Given the description of an element on the screen output the (x, y) to click on. 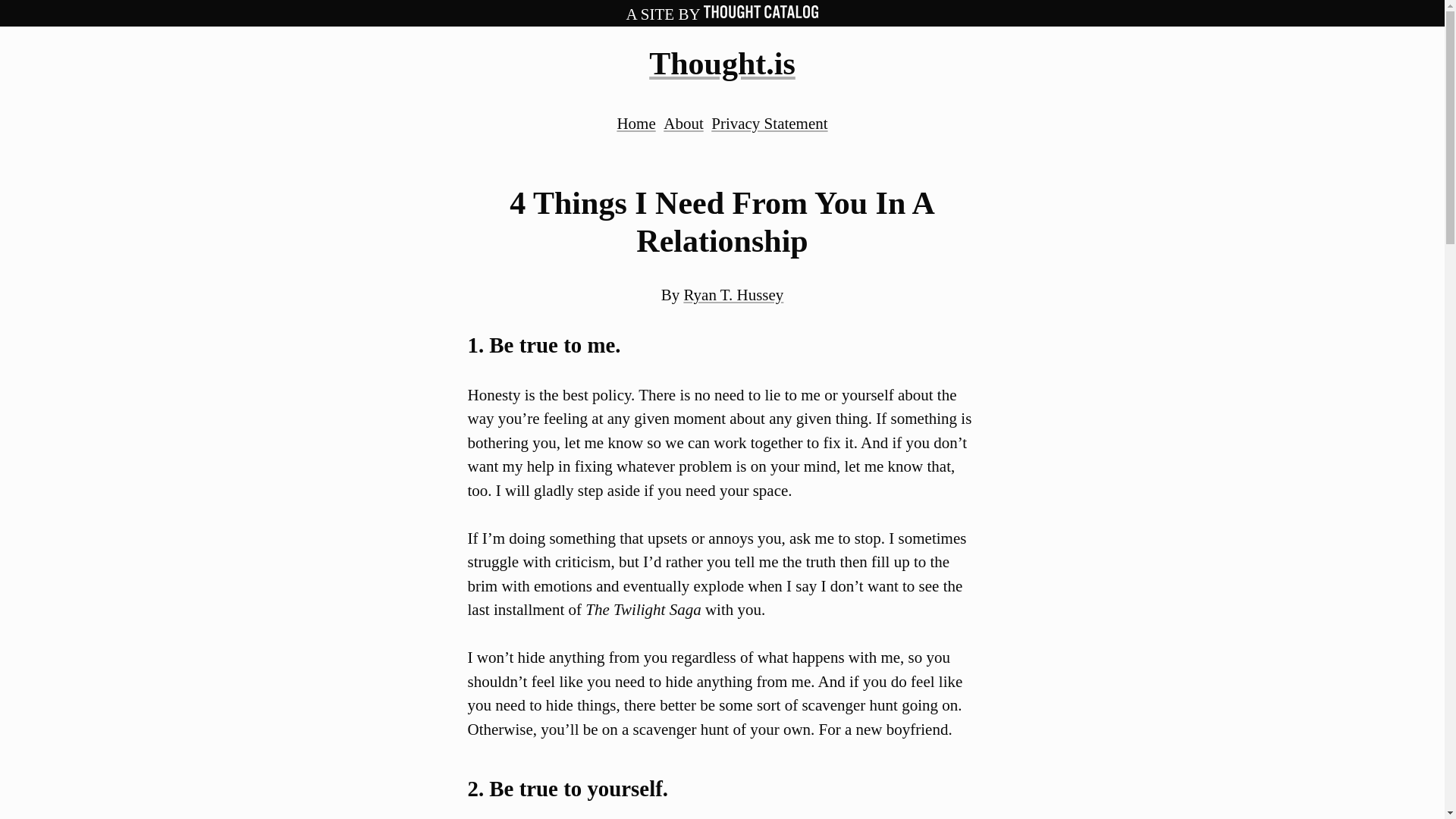
About (683, 123)
THOUGHT CATALOG (760, 13)
Posts by Ryan T. Hussey (732, 294)
Thought.is (721, 63)
THOUGHT CATALOG (760, 11)
Home (635, 123)
Ryan T. Hussey (732, 294)
Privacy Statement (769, 123)
